Given the description of an element on the screen output the (x, y) to click on. 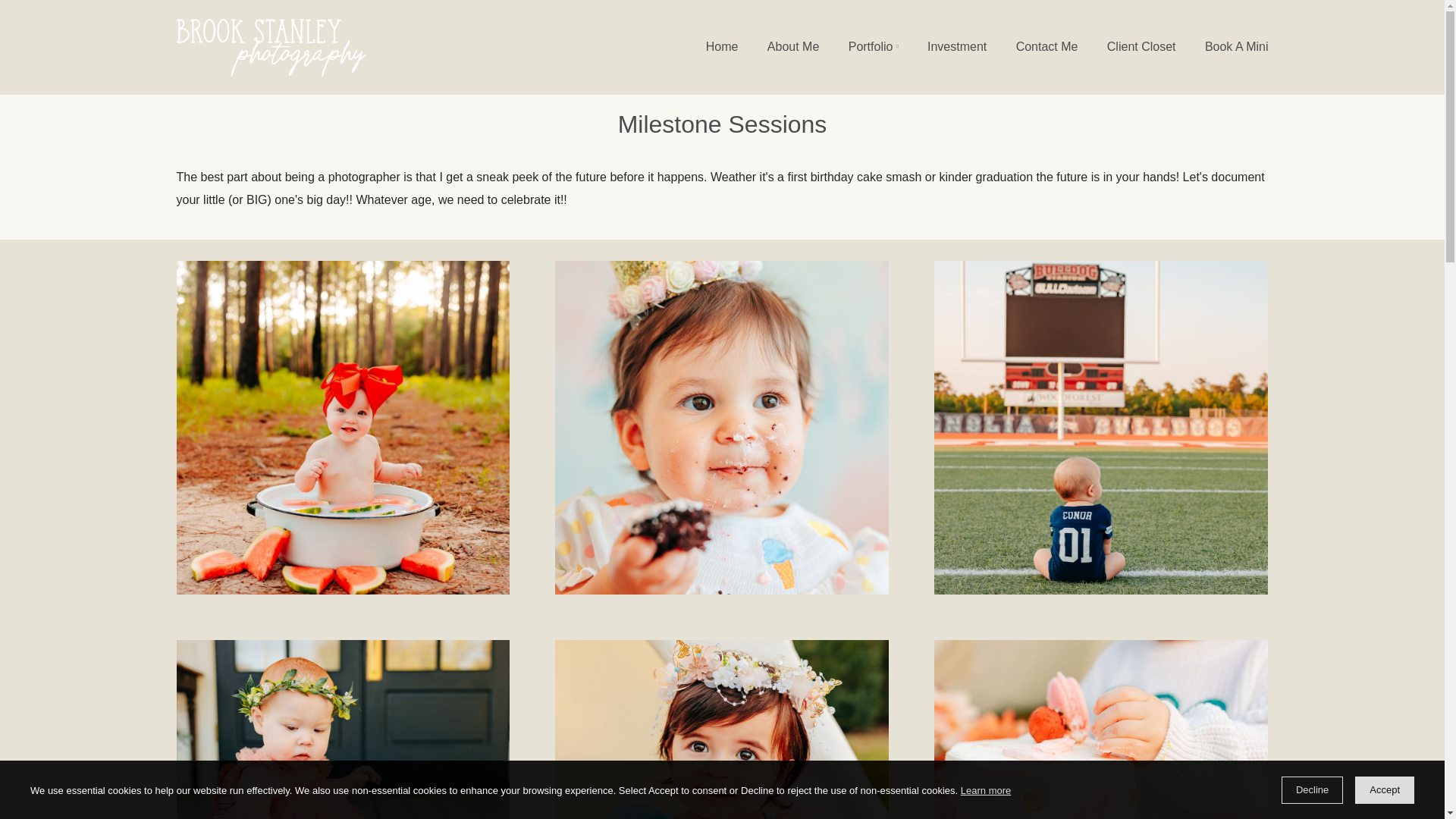
Accept (1384, 789)
About Me (793, 46)
Decline (1311, 789)
Home (721, 46)
Portfolio (873, 46)
Investment (956, 46)
Book A Mini (1236, 46)
Learn more (985, 791)
Contact Me (1046, 46)
Client Closet (1142, 46)
